Given the description of an element on the screen output the (x, y) to click on. 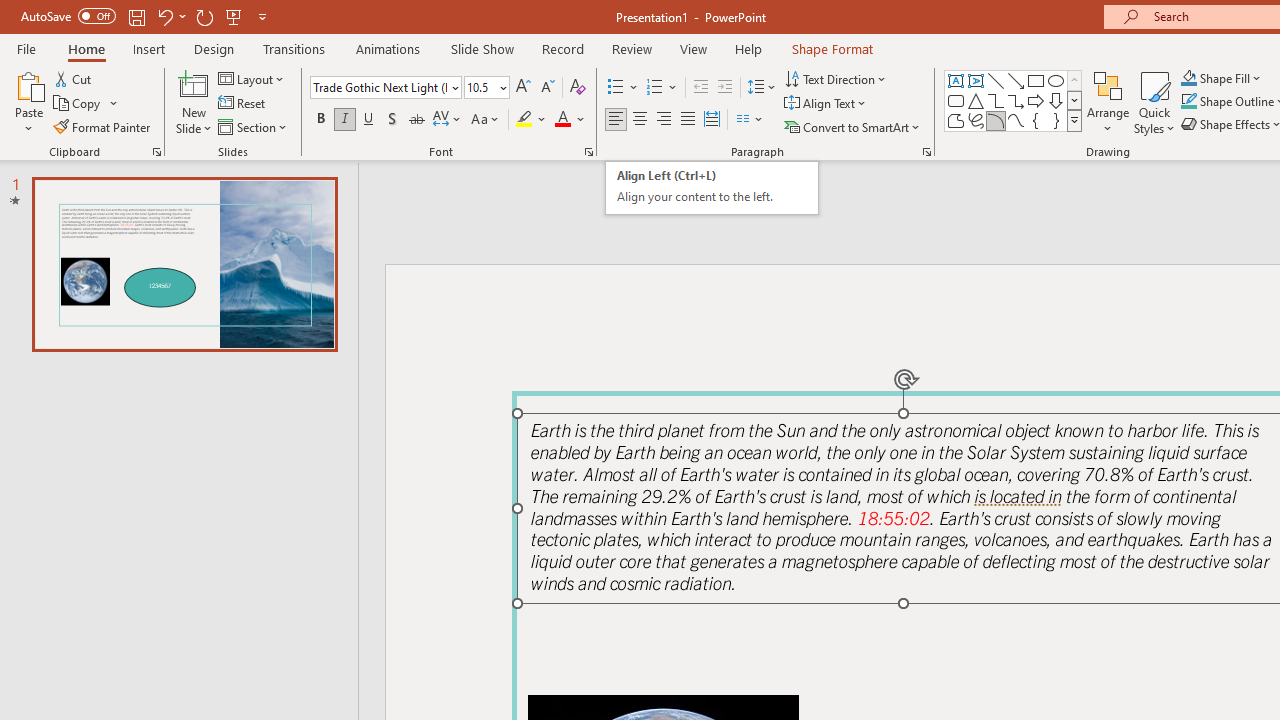
Shape Fill Aqua, Accent 2 (1188, 78)
